Given the description of an element on the screen output the (x, y) to click on. 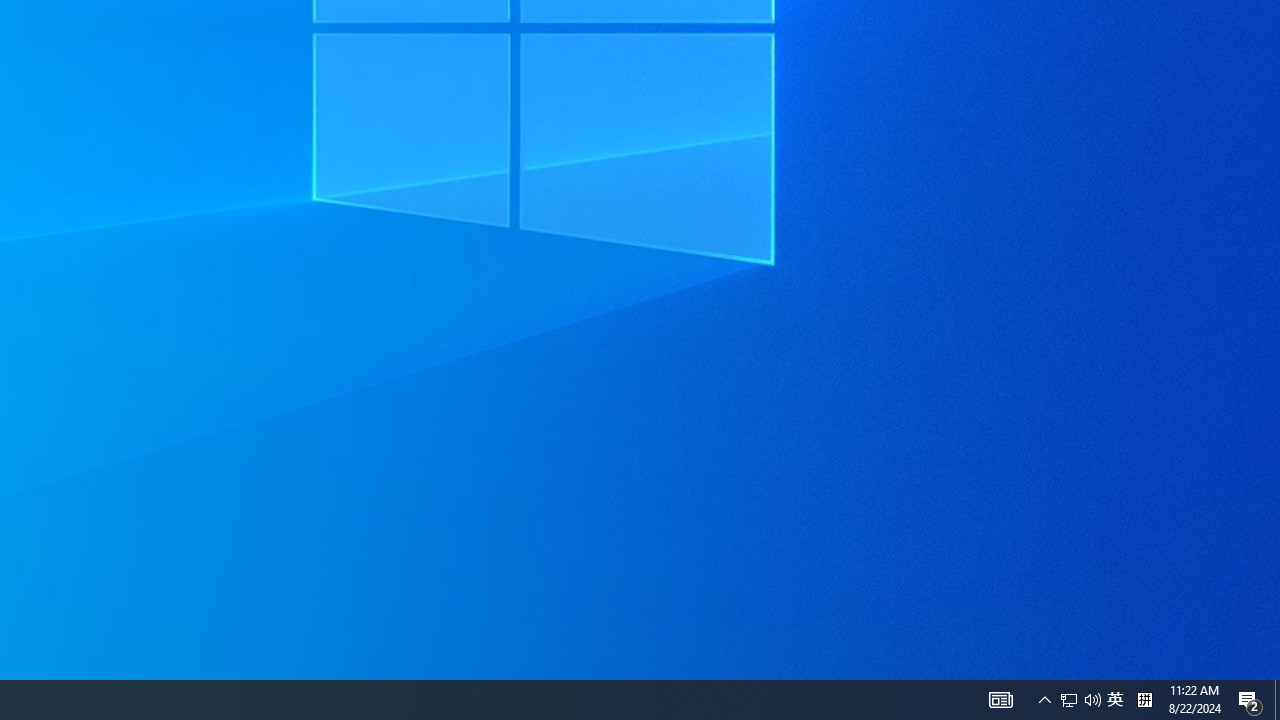
Show desktop (1115, 699)
Notification Chevron (1277, 699)
Action Center, 2 new notifications (1044, 699)
User Promoted Notification Area (1250, 699)
AutomationID: 4105 (1080, 699)
Tray Input Indicator - Chinese (Simplified, China) (1000, 699)
Q2790: 100% (1144, 699)
